Given the description of an element on the screen output the (x, y) to click on. 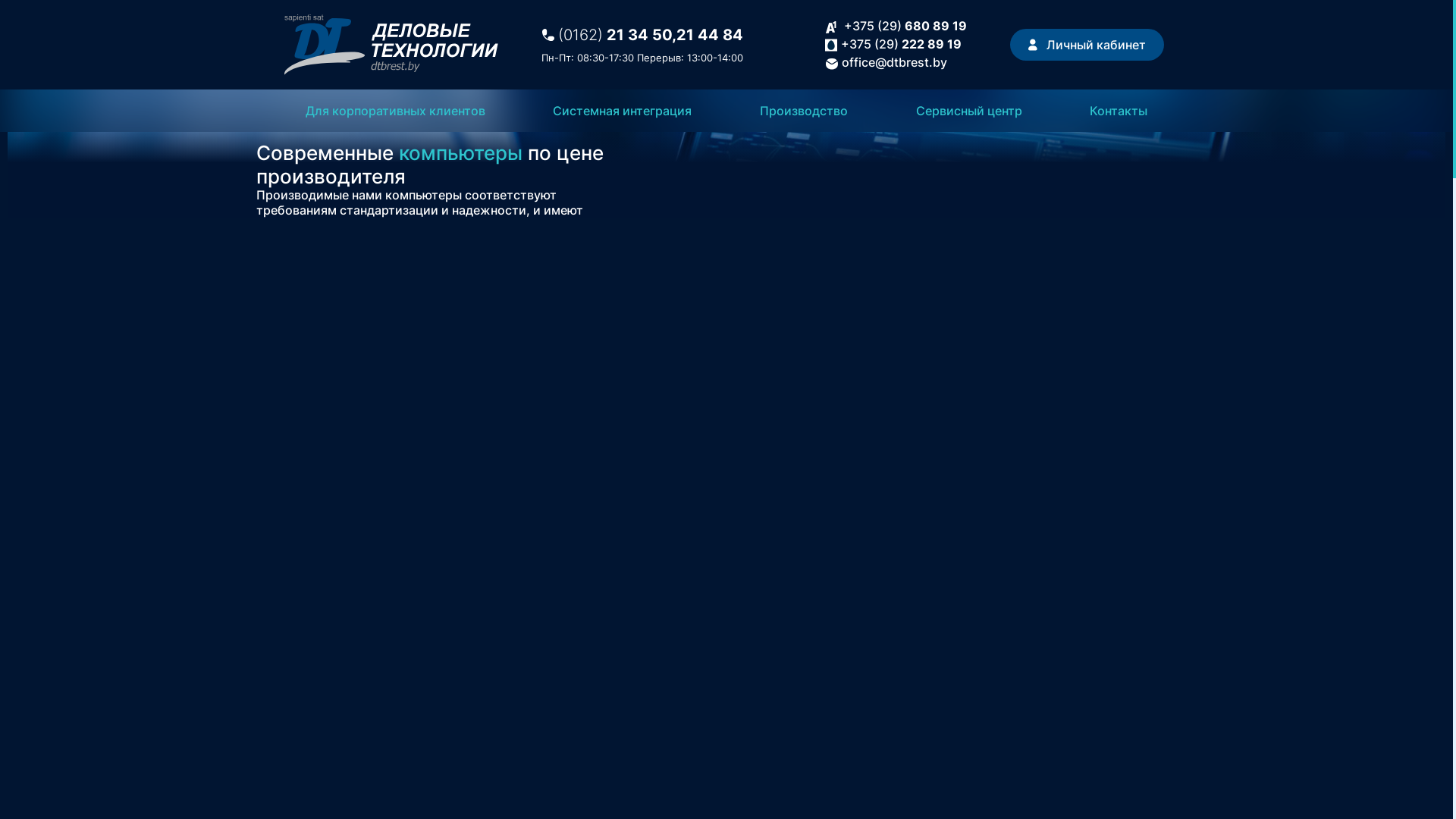
office@dtbrest.by Element type: text (894, 61)
+375 (29) 222 89 19 Element type: text (900, 43)
21 44 84 Element type: text (709, 34)
(0162) 21 34 50, Element type: text (617, 34)
+375 (29) 680 89 19 Element type: text (905, 25)
